Given the description of an element on the screen output the (x, y) to click on. 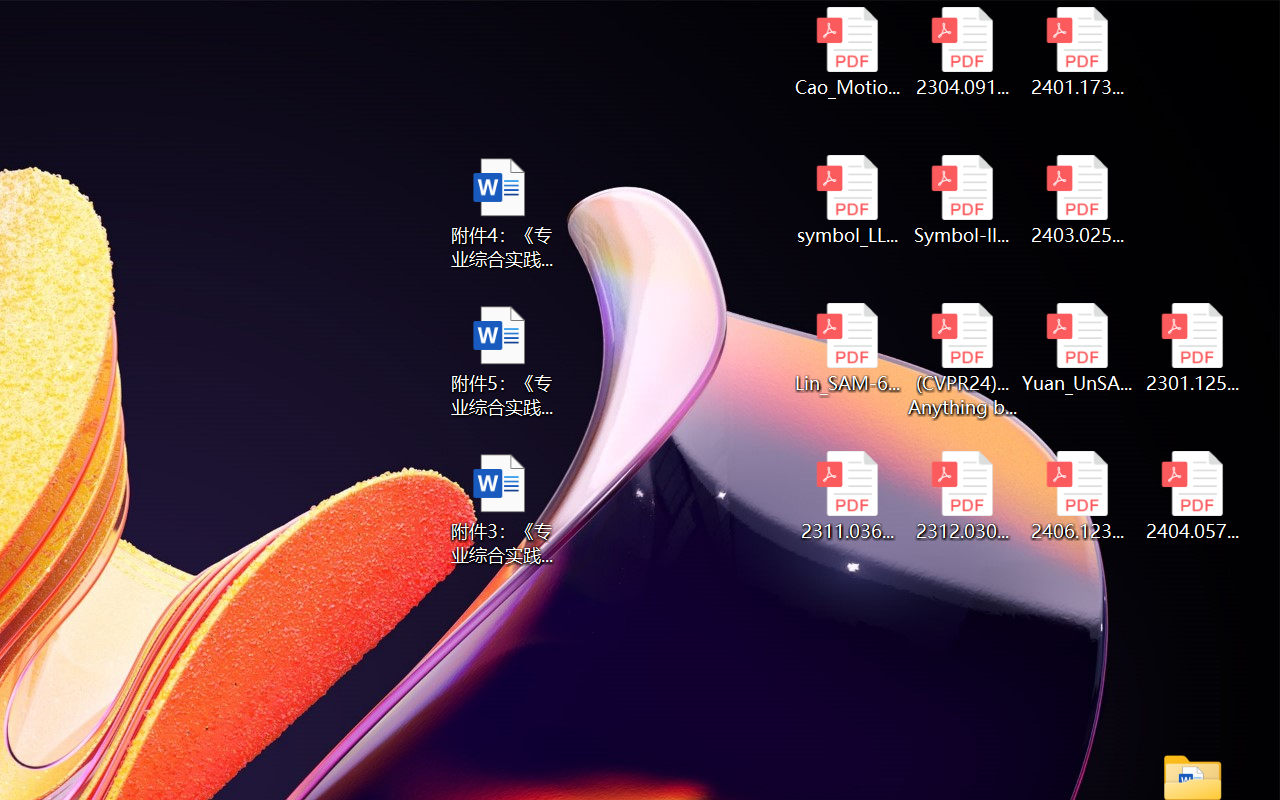
2404.05719v1.pdf (1192, 496)
